Given the description of an element on the screen output the (x, y) to click on. 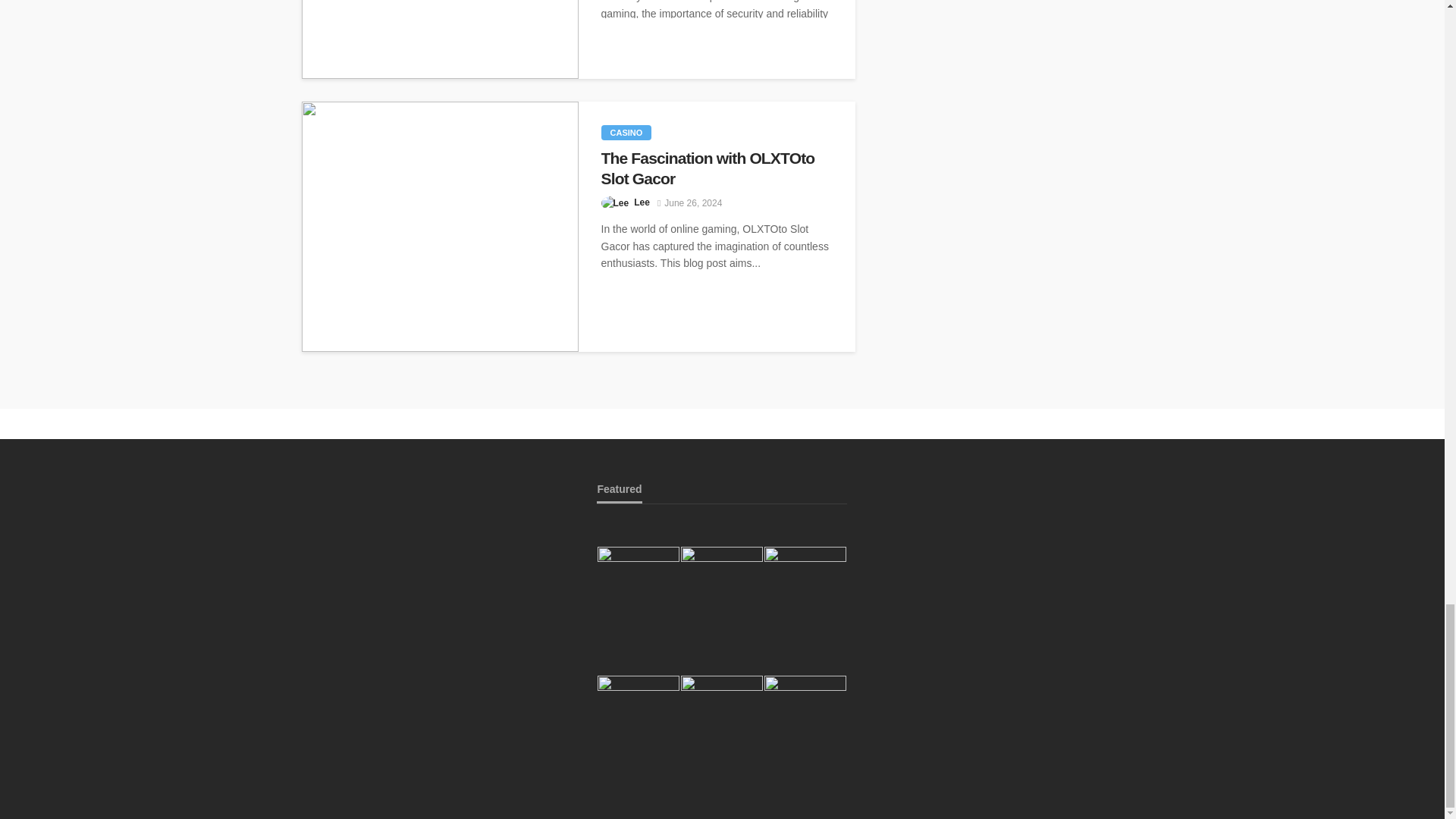
The Fascination with OLXTOto Slot Gacor (439, 226)
